Given the description of an element on the screen output the (x, y) to click on. 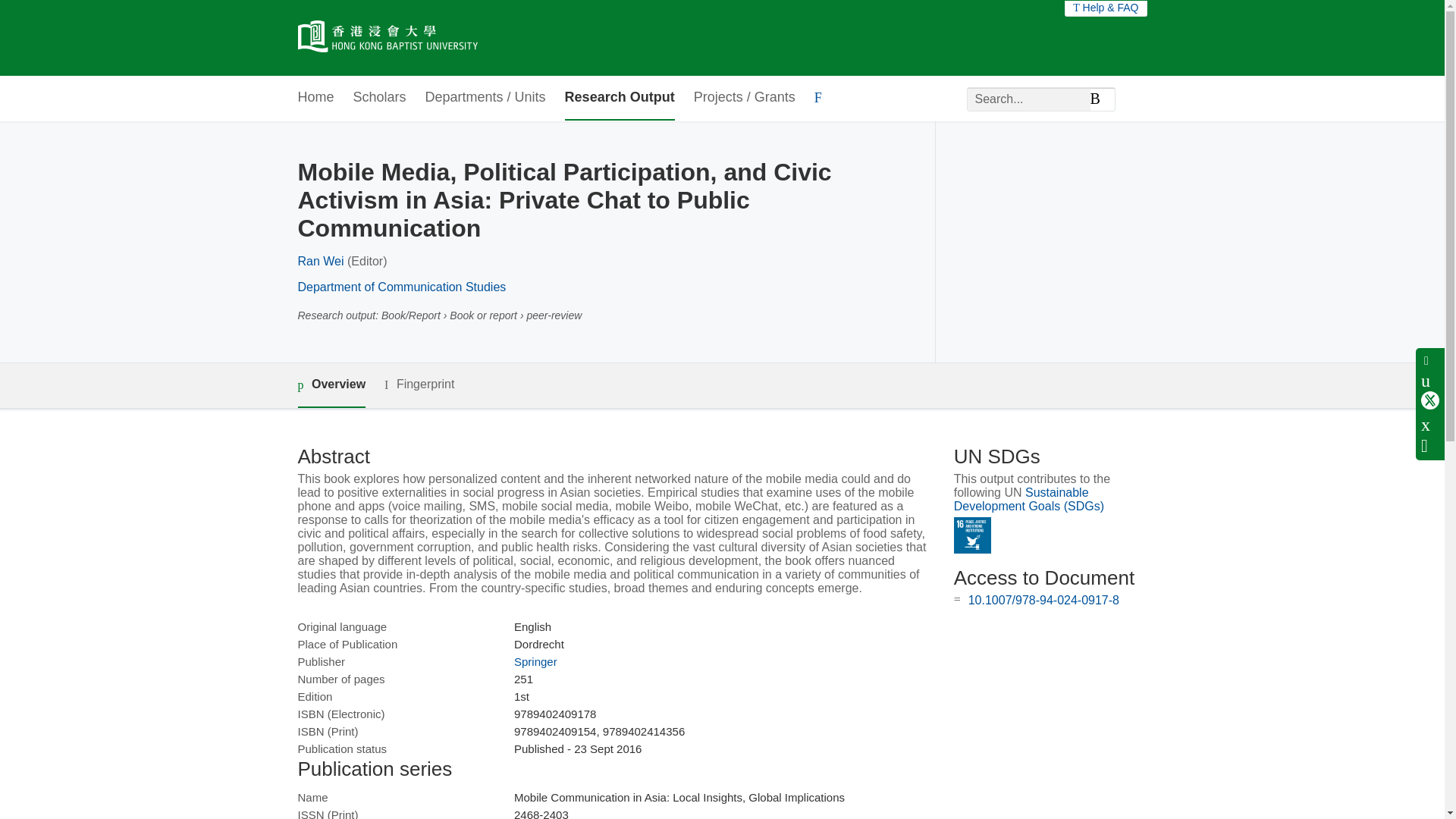
Overview (331, 385)
Springer (535, 661)
Scholars (379, 98)
Department of Communication Studies (401, 286)
SDG 16 - Peace, Justice and Strong Institutions (972, 535)
Hong Kong Baptist University Home (387, 37)
Research Output (619, 98)
Fingerprint (419, 384)
Ran Wei (320, 260)
